Given the description of an element on the screen output the (x, y) to click on. 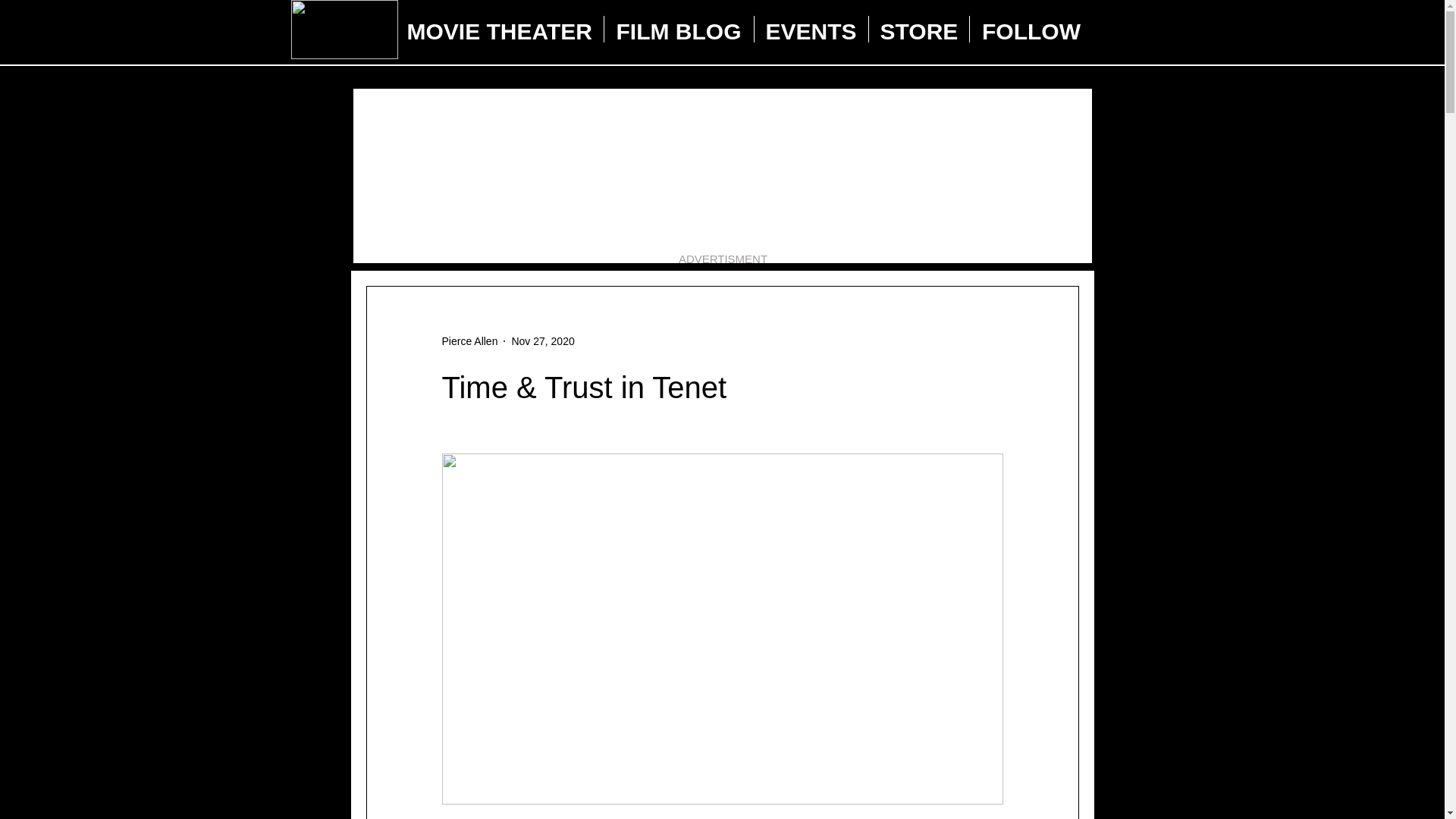
Nov 27, 2020 (542, 340)
EVENTS (810, 28)
Pierce Allen (469, 341)
Pierce Allen (469, 341)
FILM BLOG (678, 28)
FOLLOW (1031, 28)
STORE (919, 28)
MOVIE THEATER (500, 28)
